Given the description of an element on the screen output the (x, y) to click on. 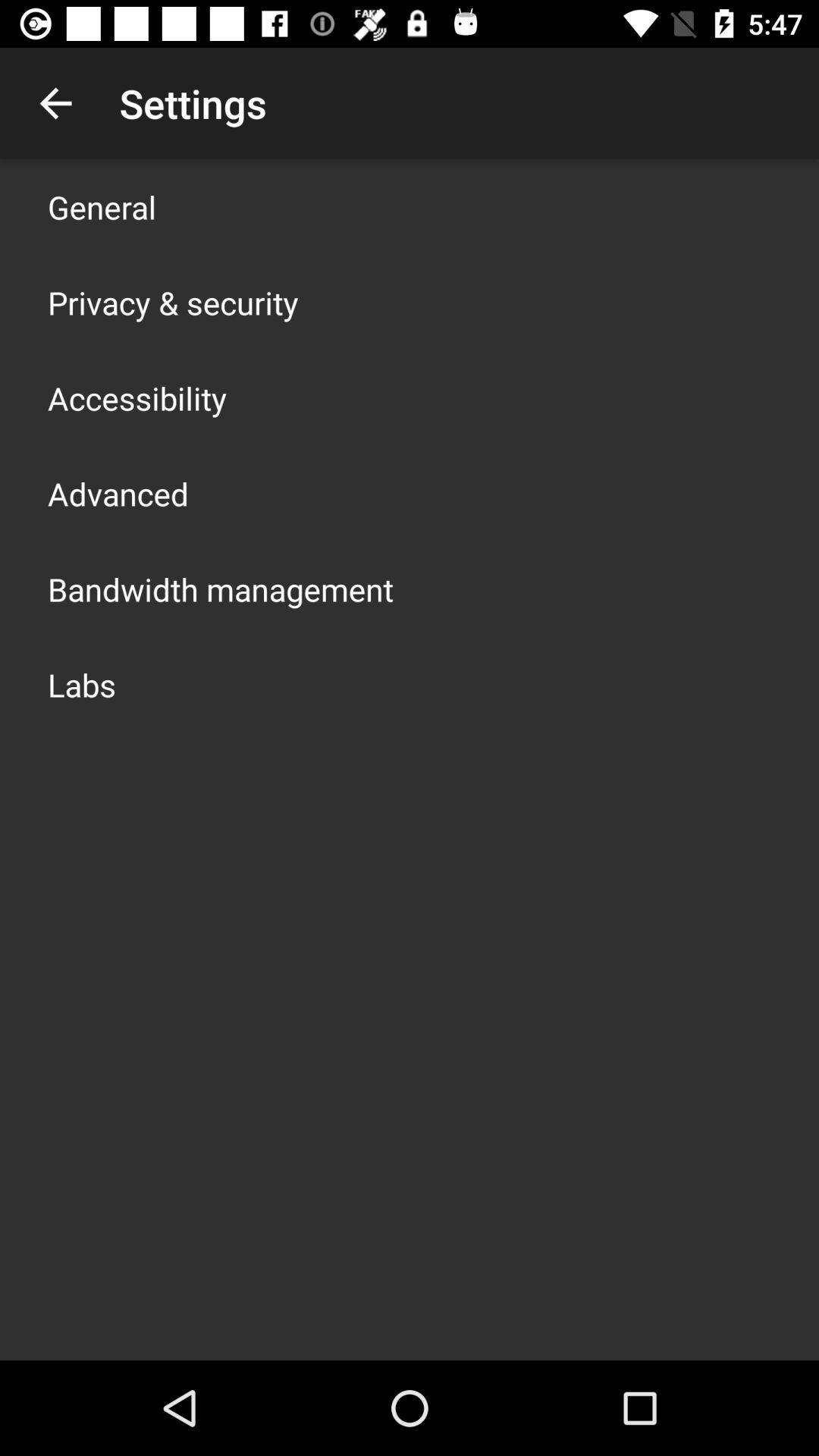
turn on the app next to settings icon (55, 103)
